Given the description of an element on the screen output the (x, y) to click on. 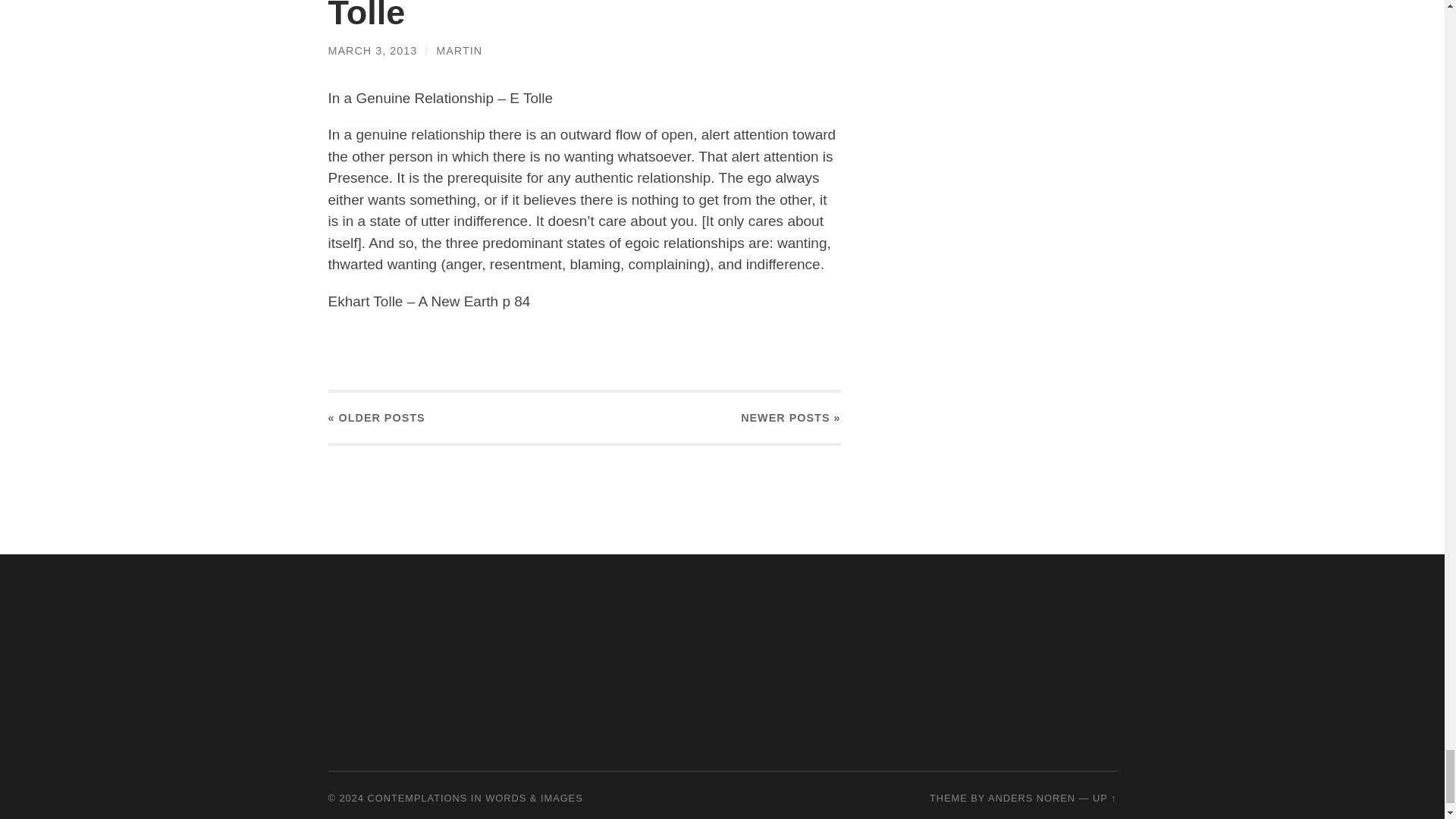
Posts by martin (458, 50)
